Given the description of an element on the screen output the (x, y) to click on. 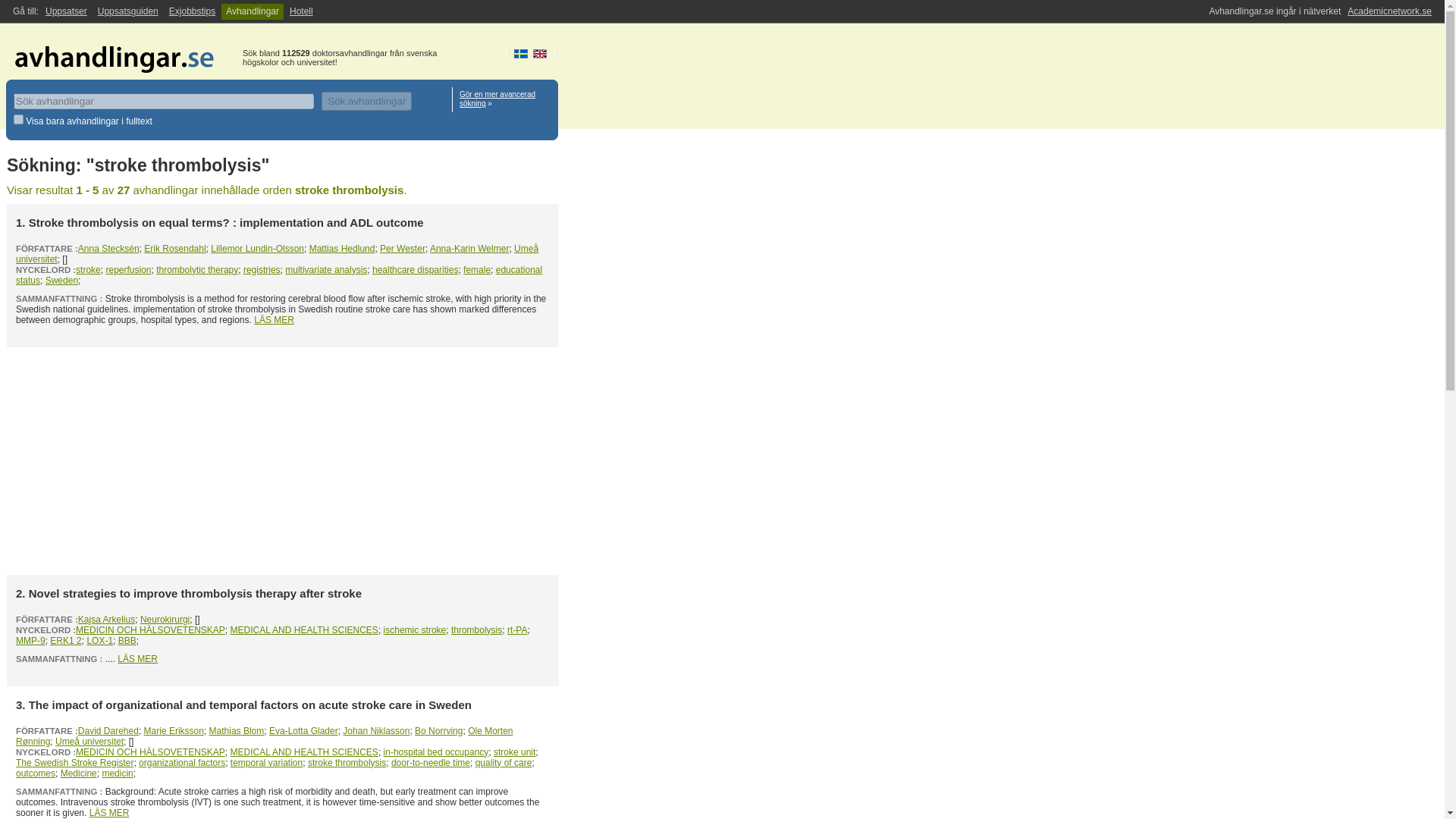
Advertisement (283, 460)
Per Wester (402, 248)
Sweden (61, 280)
reperfusion (127, 269)
y (18, 119)
Hotell (301, 11)
thrombolysis (476, 629)
Lillemor Lundin-Olsson (257, 248)
Uppsatsguiden (128, 11)
MEDICAL AND HEALTH SCIENCES (304, 629)
educational status (278, 274)
ischemic stroke (415, 629)
thrombolytic therapy (196, 269)
healthcare disparities (415, 269)
stroke (87, 269)
